Given the description of an element on the screen output the (x, y) to click on. 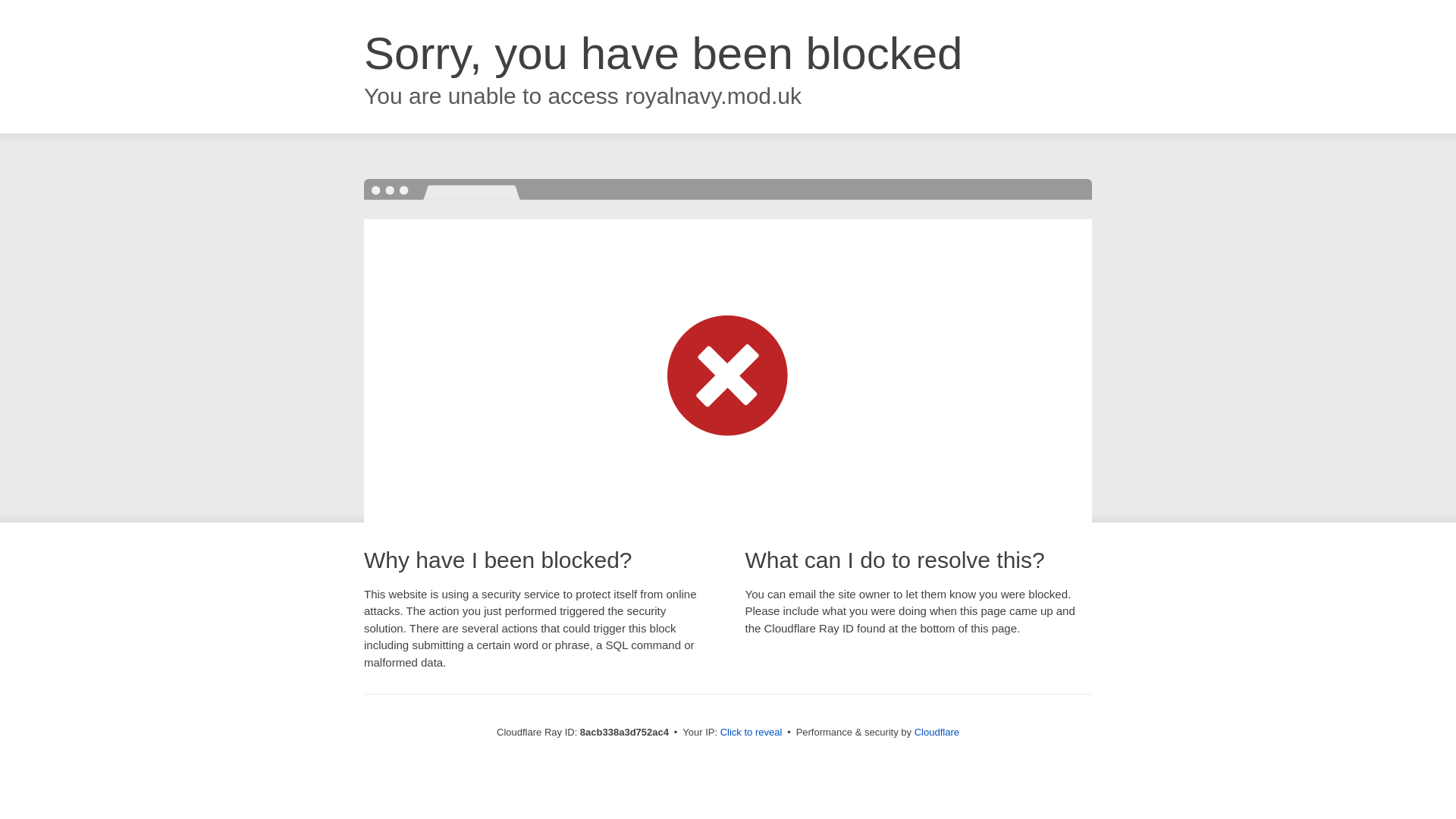
Cloudflare (936, 731)
Click to reveal (751, 732)
